Given the description of an element on the screen output the (x, y) to click on. 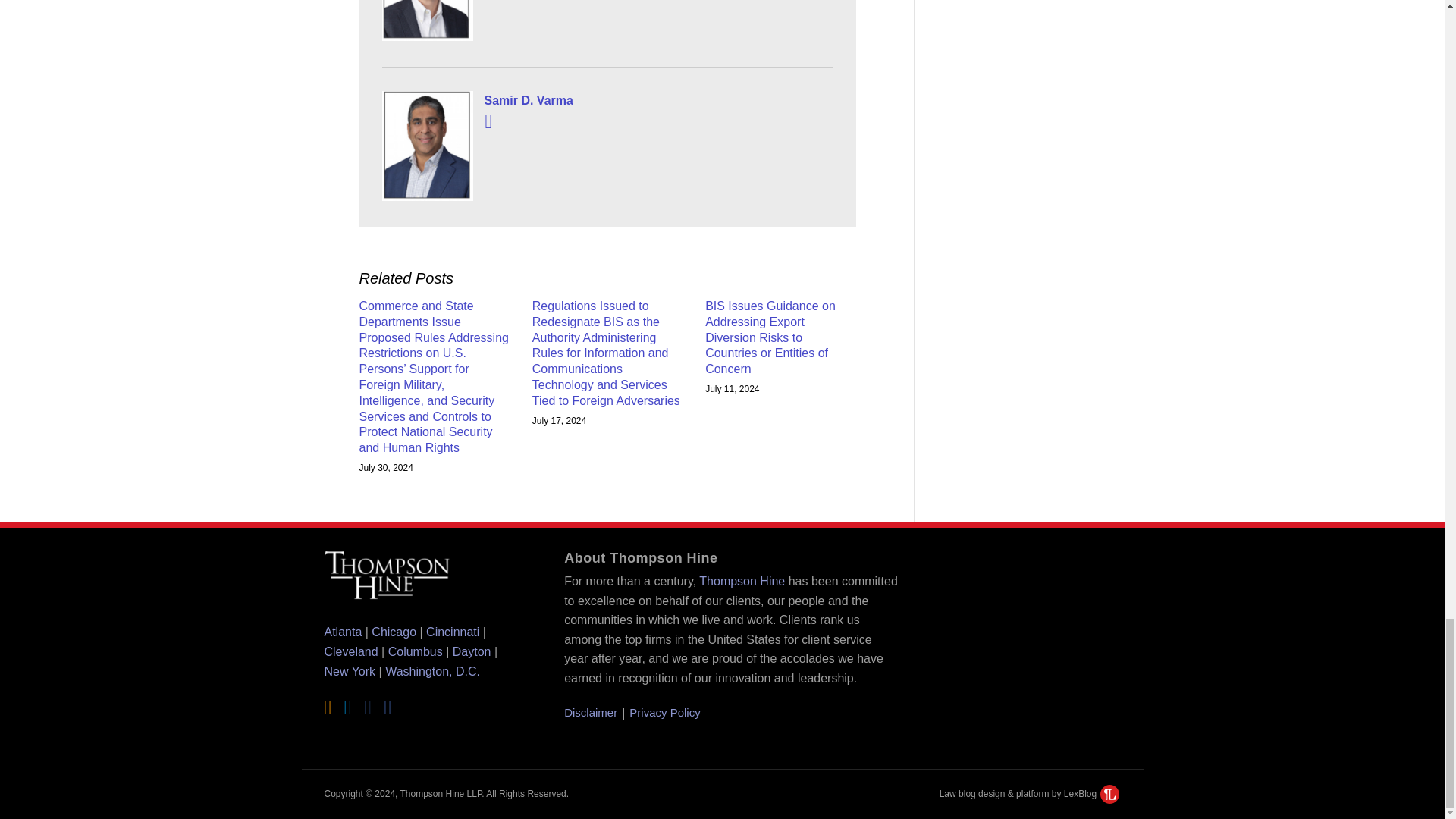
Samir D. Varma (606, 100)
LexBlog Logo (1109, 793)
Read more about Samir D. Varma (488, 121)
